Given the description of an element on the screen output the (x, y) to click on. 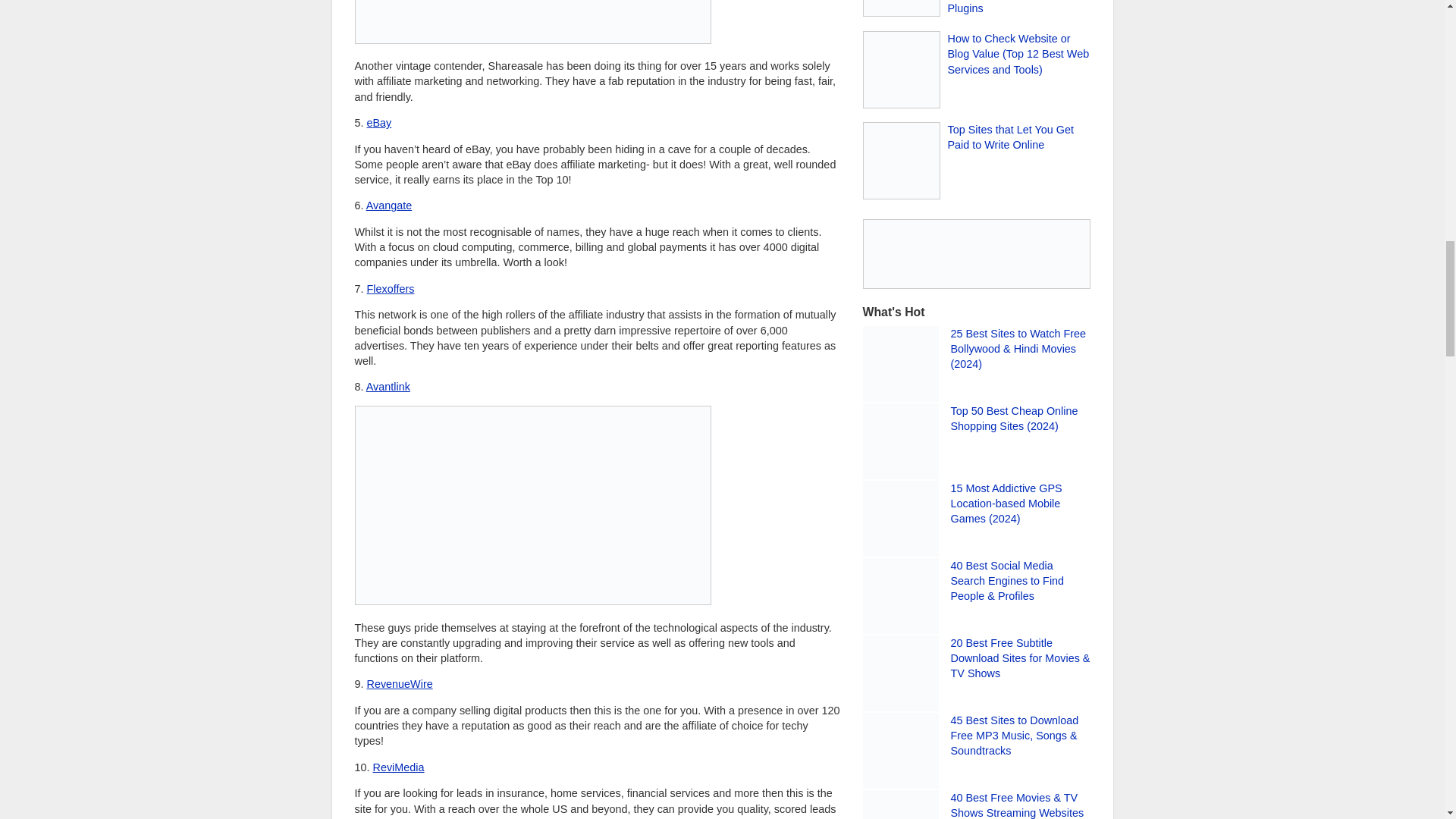
Flexoffers (390, 288)
ReviMedia (398, 767)
eBay (378, 122)
Avangate (389, 205)
RevenueWire (399, 684)
Avantlink (388, 386)
